Given the description of an element on the screen output the (x, y) to click on. 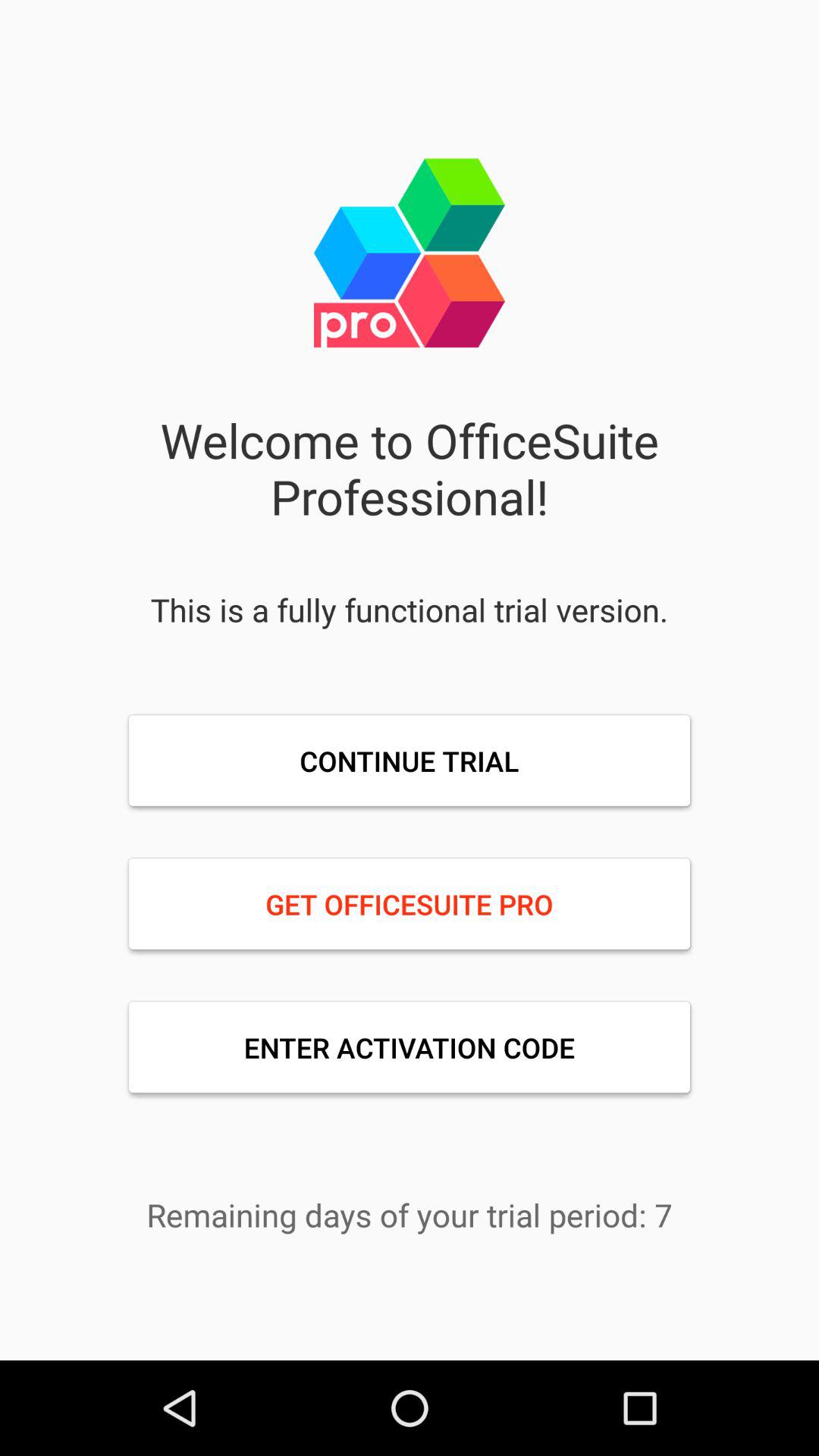
turn on icon above the get officesuite pro (409, 760)
